Given the description of an element on the screen output the (x, y) to click on. 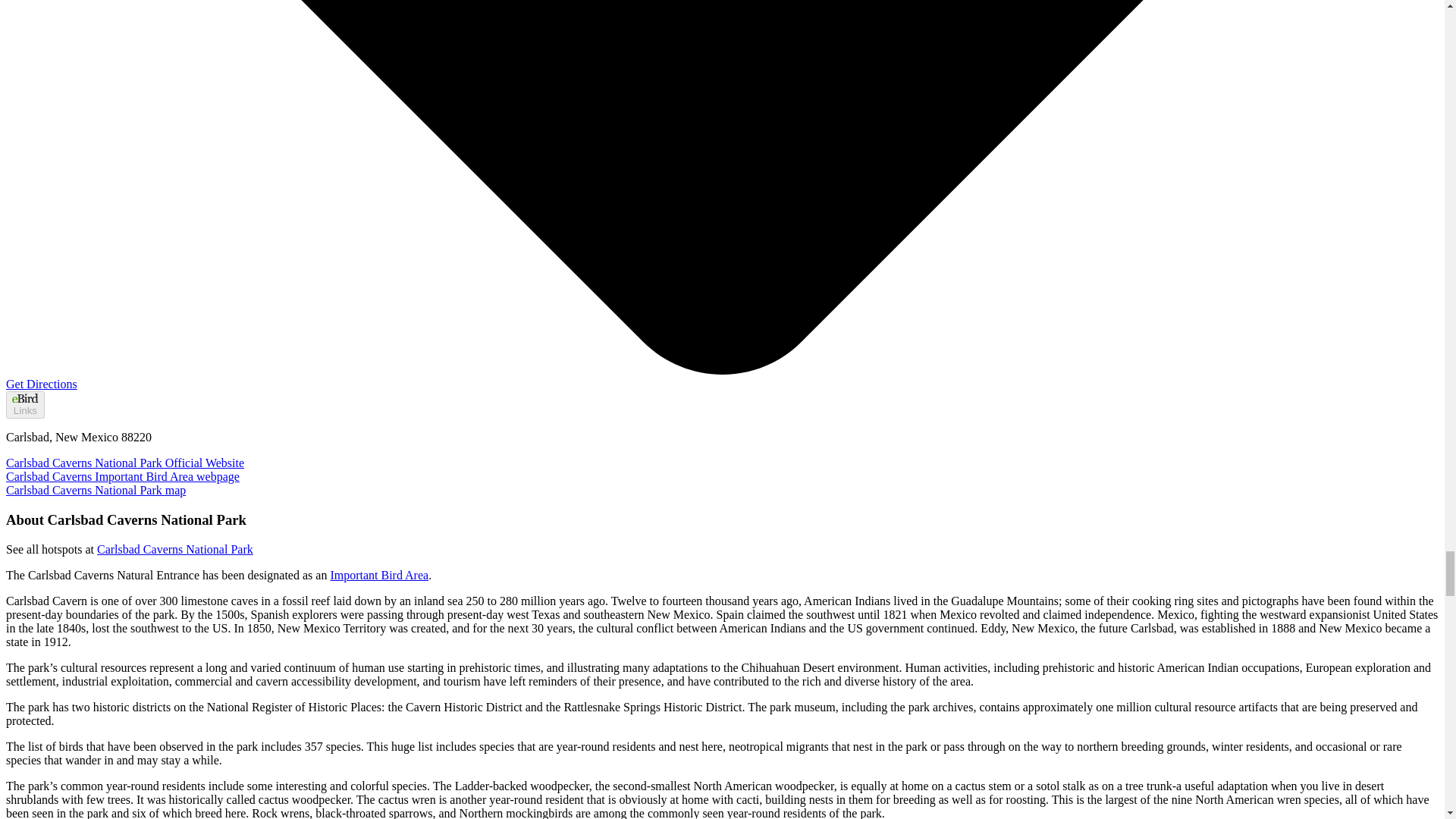
Carlsbad Caverns National Park Official Website (124, 462)
eBird Links (25, 405)
Important Bird Area (379, 574)
eBird (24, 397)
Carlsbad Caverns National Park (175, 549)
Carlsbad Caverns National Park map (95, 490)
Carlsbad Caverns Important Bird Area webpage (122, 476)
